Given the description of an element on the screen output the (x, y) to click on. 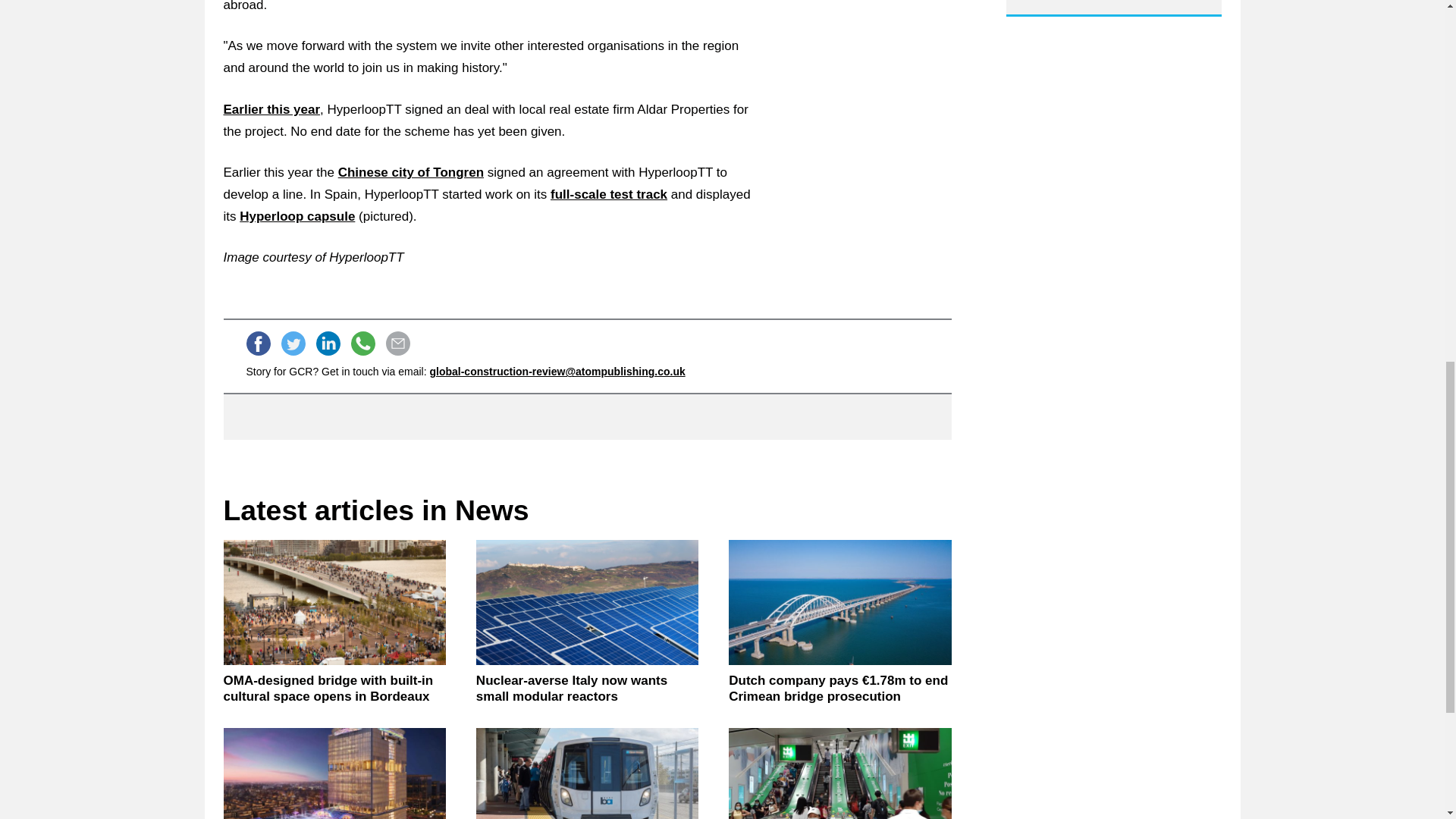
Share on Facebook (257, 343)
Nuclear-averse Italy now wants small modular reactors (587, 602)
Share on WhatsApp (362, 343)
Share on LinkedIn (327, 343)
Tweet (292, 343)
Send email (397, 343)
